Given the description of an element on the screen output the (x, y) to click on. 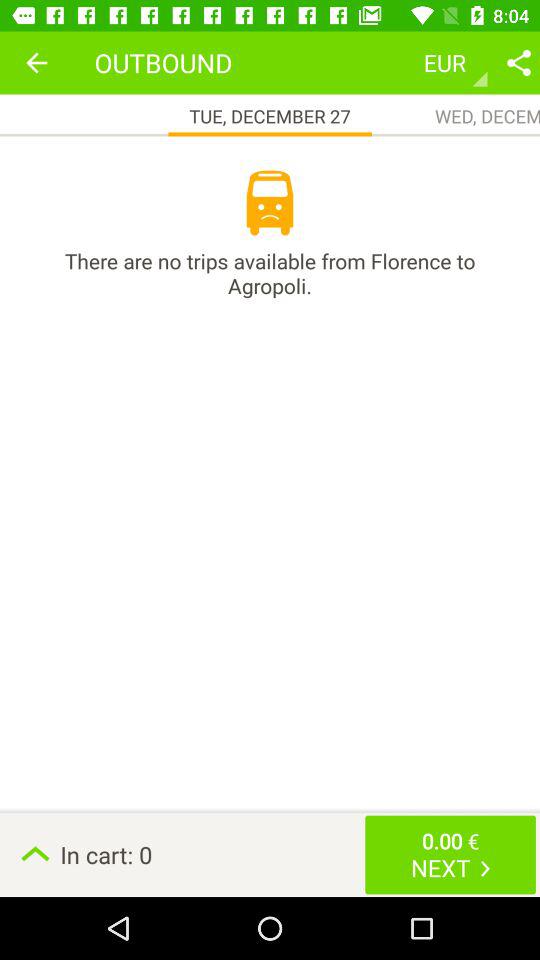
click the item above the there are no (270, 203)
